Given the description of an element on the screen output the (x, y) to click on. 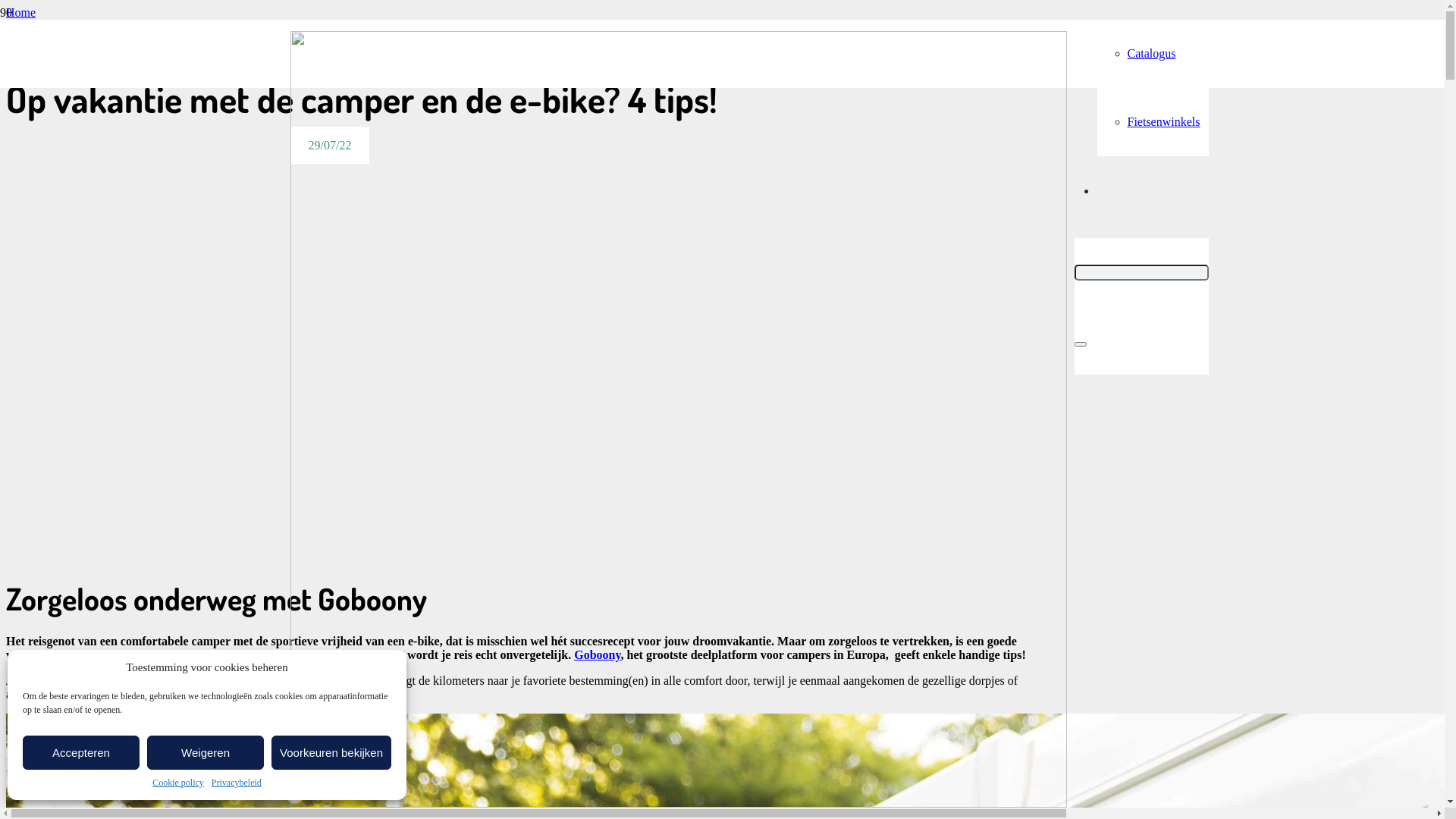
Voorkeuren bekijken Element type: text (331, 752)
Op vakantie met de camper en de e-bike? 4 tips! Element type: text (123, 39)
Fietsenwinkels Element type: text (1162, 121)
Accepteren Element type: text (80, 752)
Cookie policy Element type: text (177, 782)
Goboony Element type: text (597, 654)
Weigeren Element type: text (205, 752)
Catalogus Element type: text (1150, 53)
Privacybeleid Element type: text (236, 782)
Home Element type: text (20, 12)
Toerisme Element type: text (28, 25)
